Given the description of an element on the screen output the (x, y) to click on. 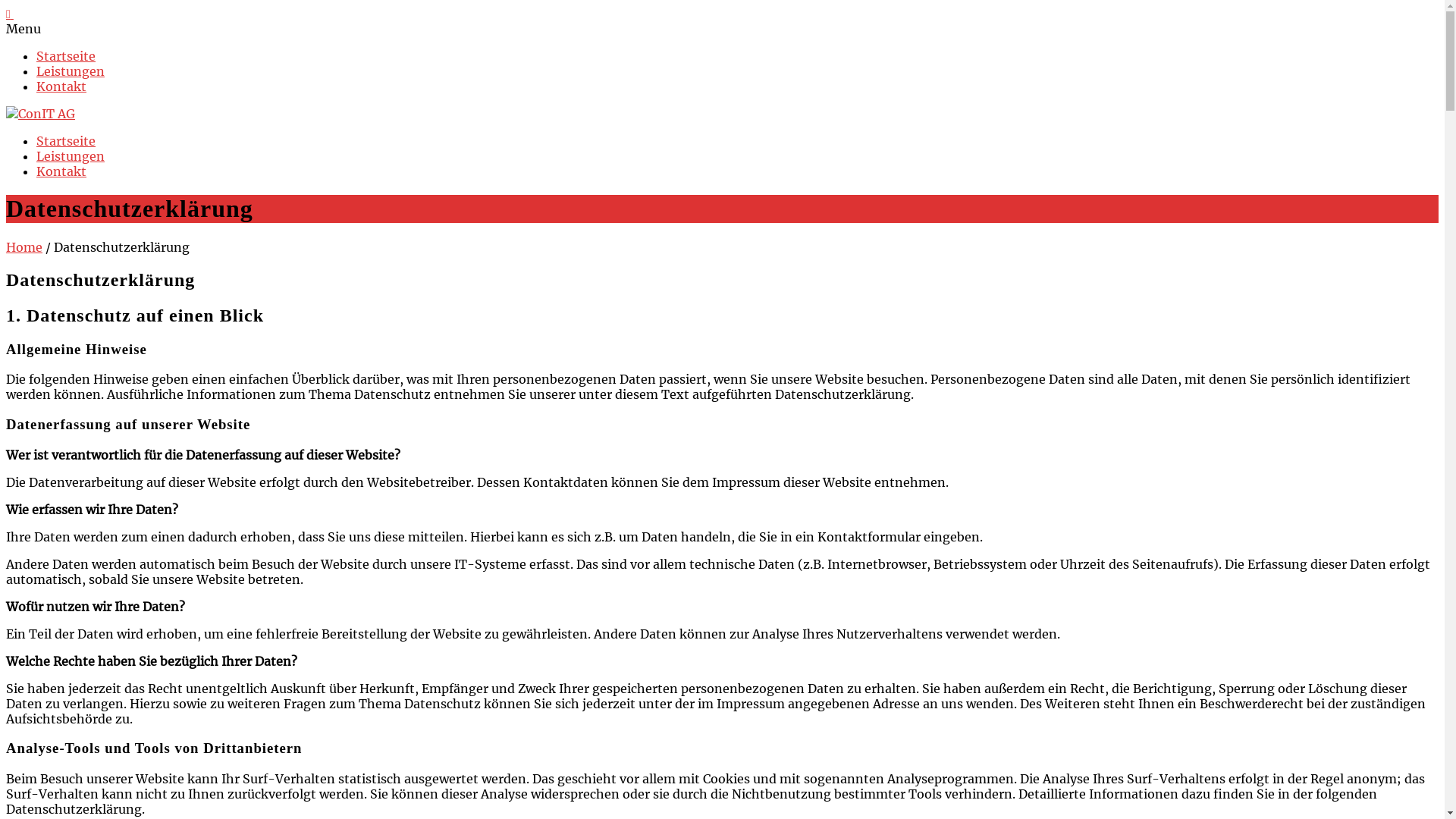
Kontakt Element type: text (61, 86)
ConIT AG Element type: hover (40, 113)
Kontakt Element type: text (61, 170)
Startseite Element type: text (65, 140)
Leistungen Element type: text (70, 155)
Home Element type: text (24, 246)
Startseite Element type: text (65, 55)
  Element type: text (9, 13)
Leistungen Element type: text (70, 70)
